Given the description of an element on the screen output the (x, y) to click on. 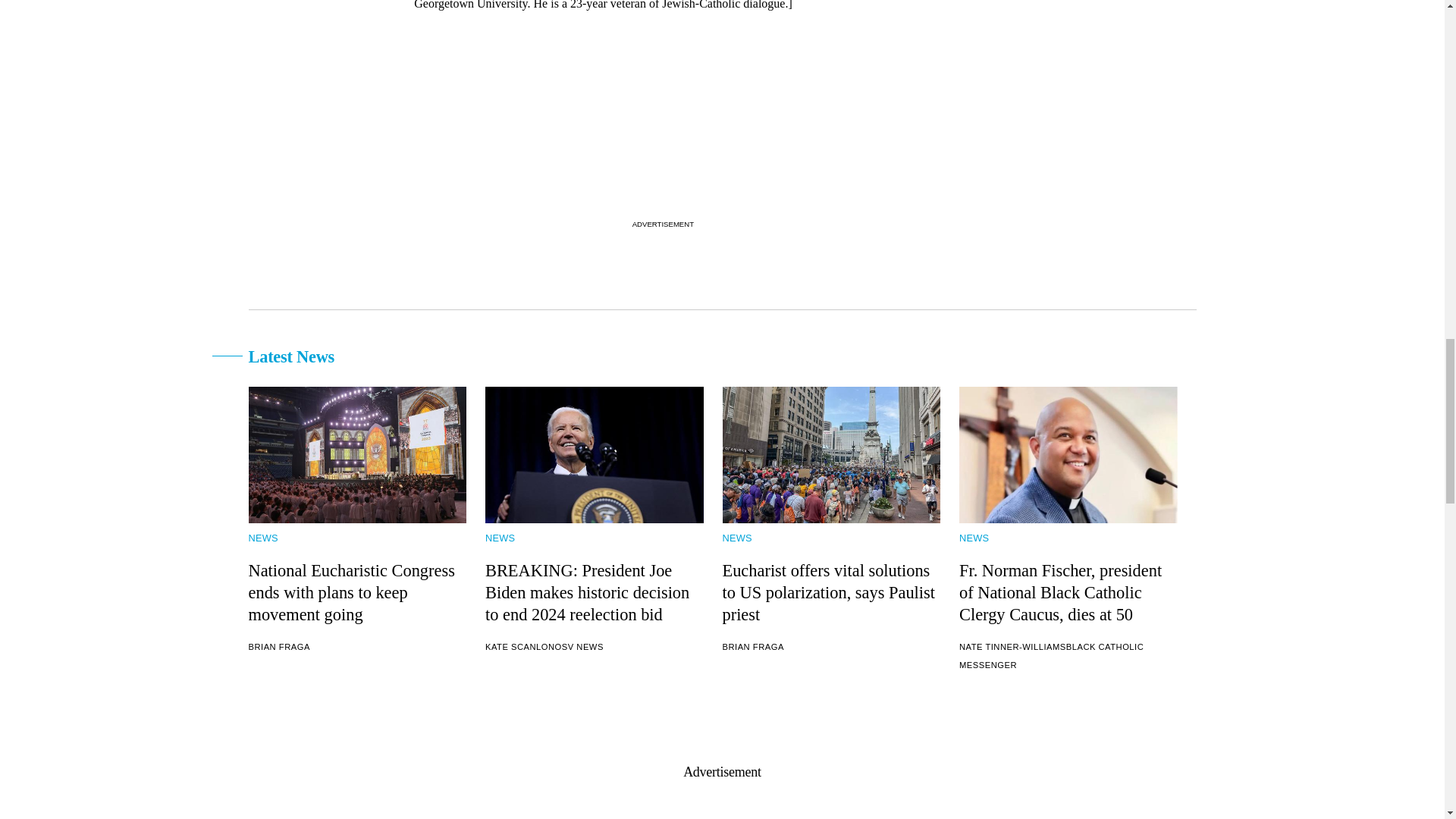
3rd party ad content (662, 120)
